Given the description of an element on the screen output the (x, y) to click on. 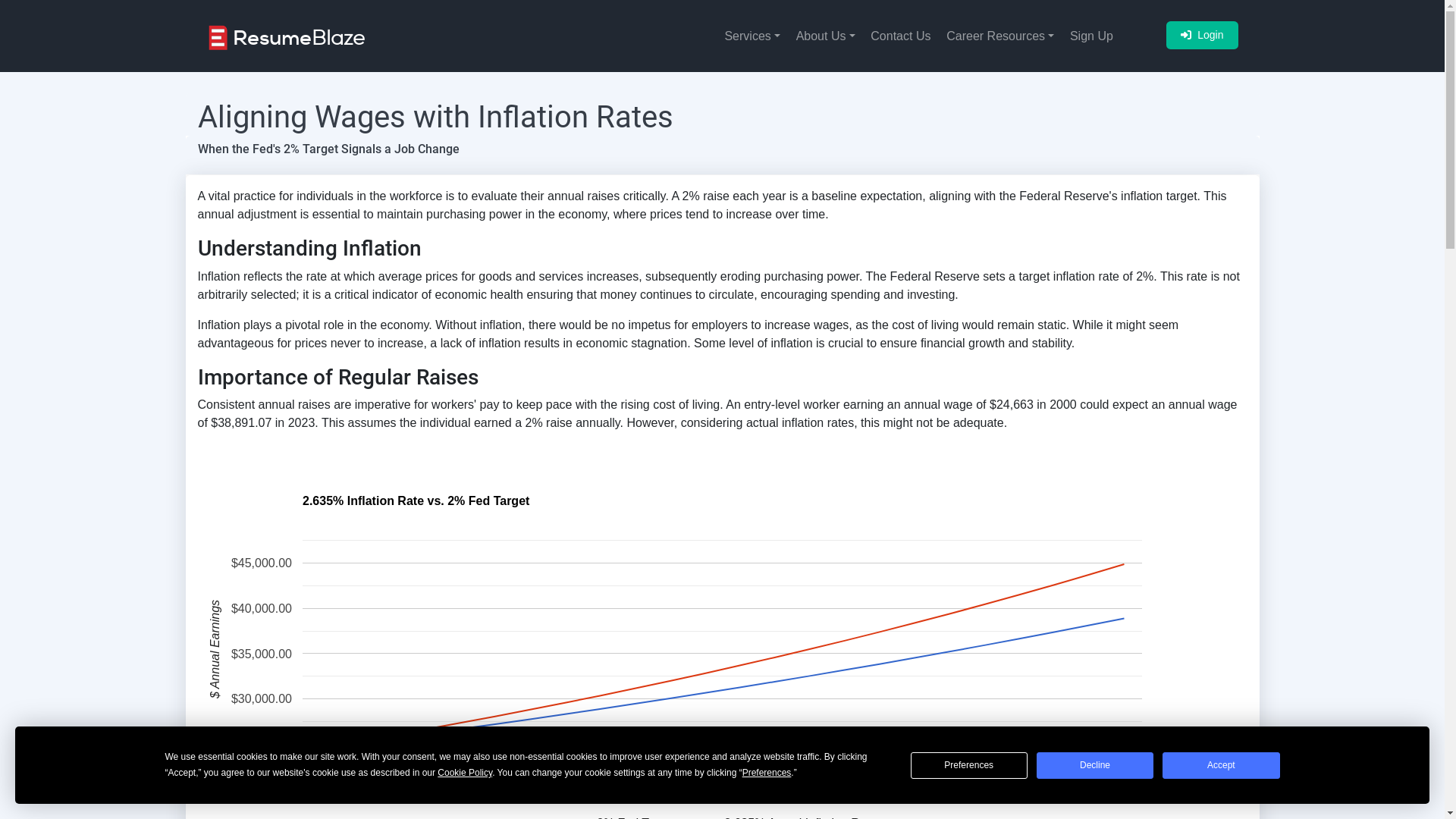
Decline Element type: text (1094, 765)
Services Element type: text (745, 36)
About Us Element type: text (818, 36)
Sign Up Element type: text (1084, 36)
Career Resources Element type: text (993, 36)
Login Element type: text (1201, 35)
Preferences Element type: text (968, 765)
Contact Us Element type: text (893, 36)
ResumeBlaze Element type: text (285, 36)
Accept Element type: text (1220, 765)
